Given the description of an element on the screen output the (x, y) to click on. 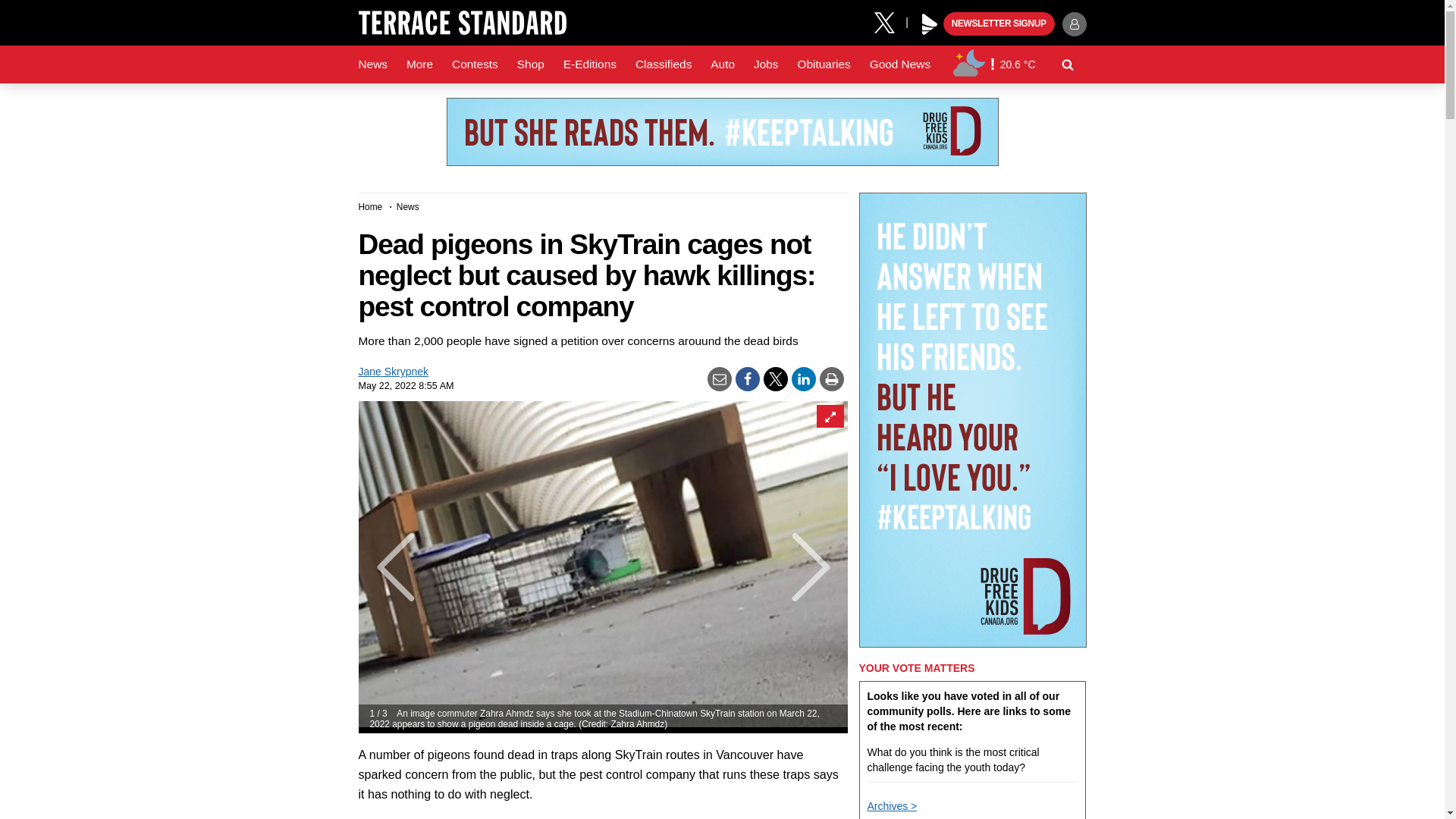
Weather alert (992, 64)
News (372, 64)
Play (929, 24)
Next (819, 567)
NEWSLETTER SIGNUP (998, 24)
X (889, 21)
Black Press Media (929, 24)
Previous (385, 567)
Expand (829, 415)
3rd party ad content (721, 131)
